Given the description of an element on the screen output the (x, y) to click on. 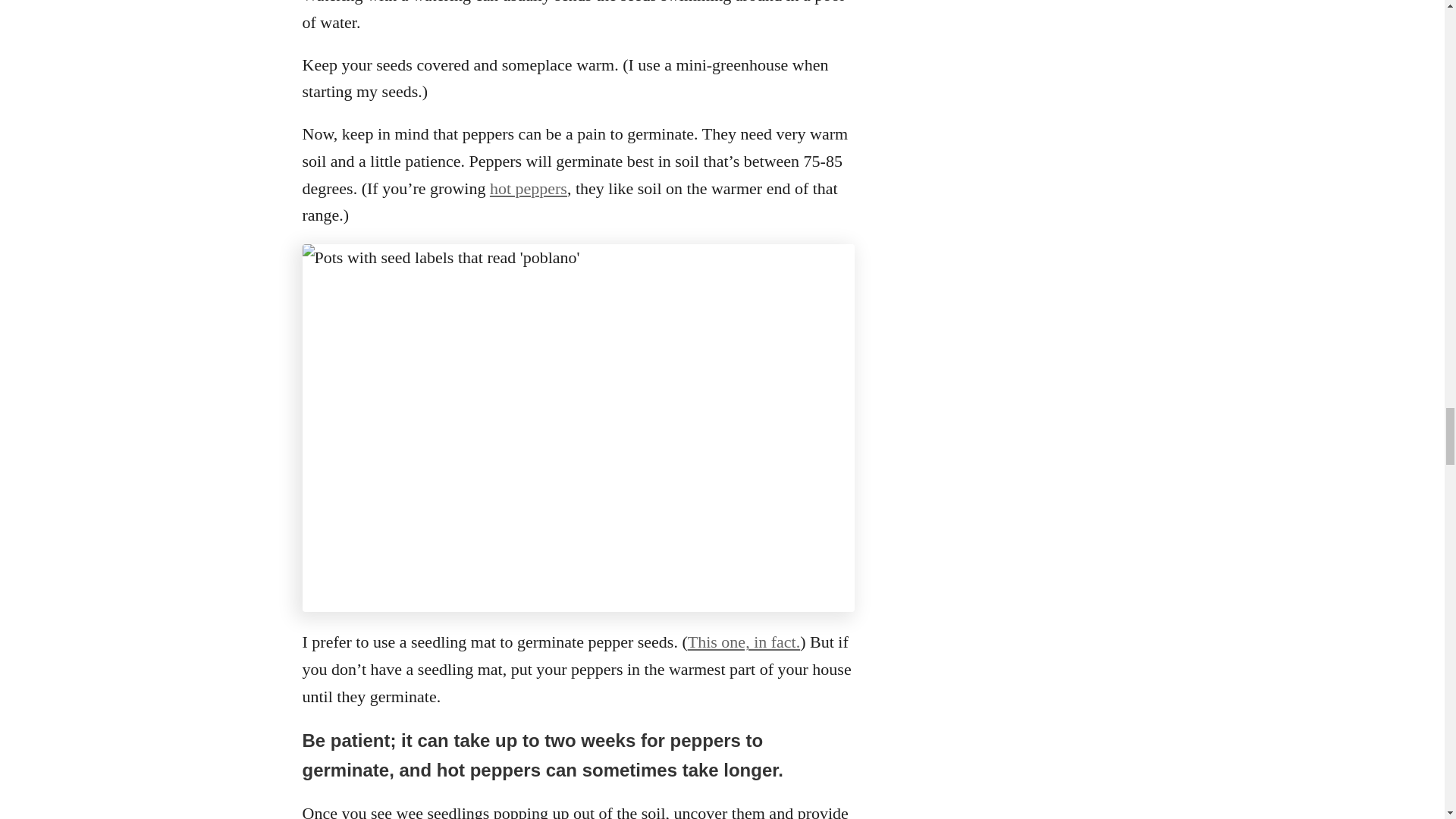
hot peppers (528, 188)
This one, in fact. (743, 641)
